Given the description of an element on the screen output the (x, y) to click on. 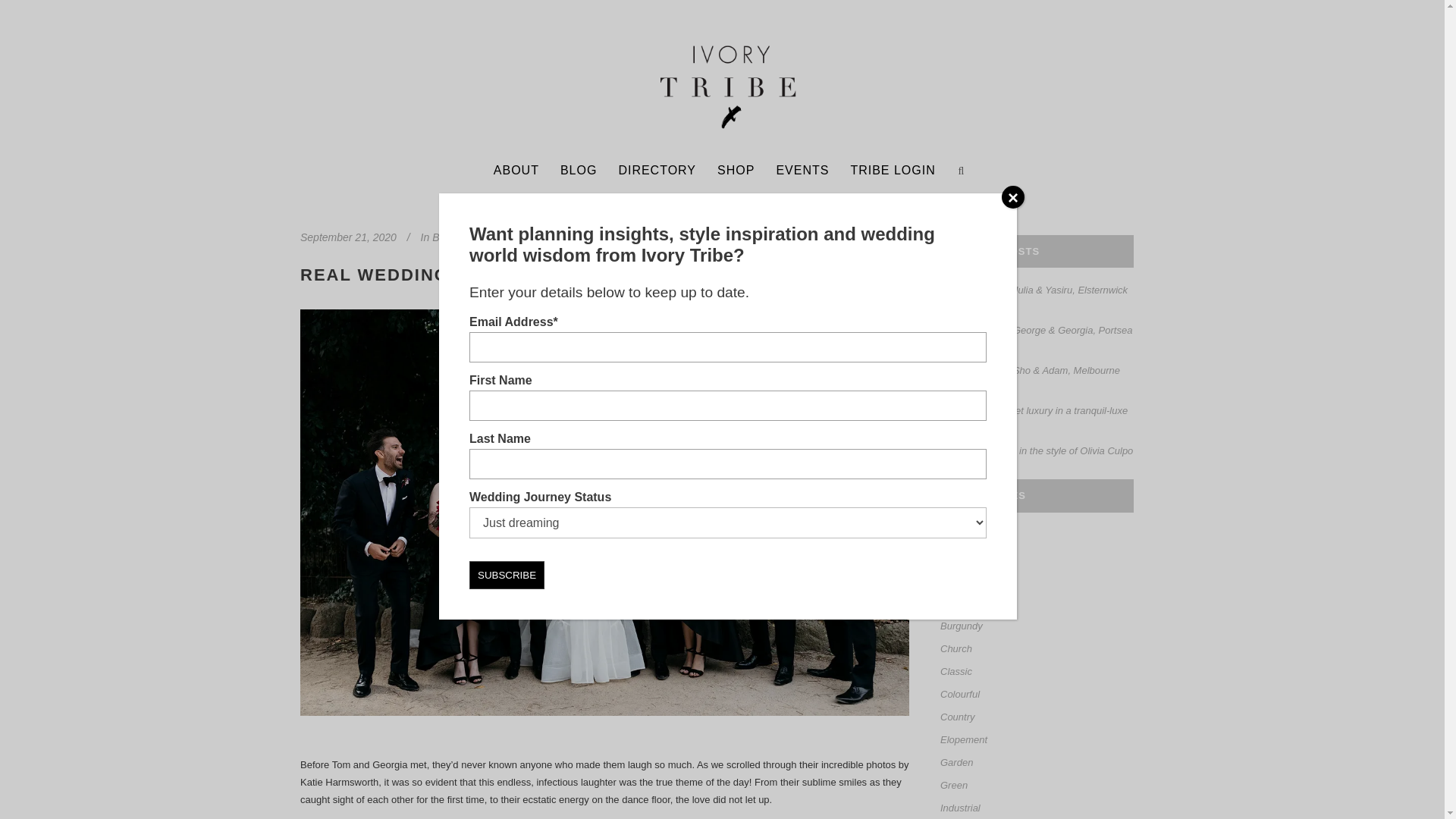
BLOG (578, 170)
SHOP (735, 170)
ABOUT (516, 170)
DIRECTORY (656, 170)
SUBSCRIBE (506, 574)
